Given the description of an element on the screen output the (x, y) to click on. 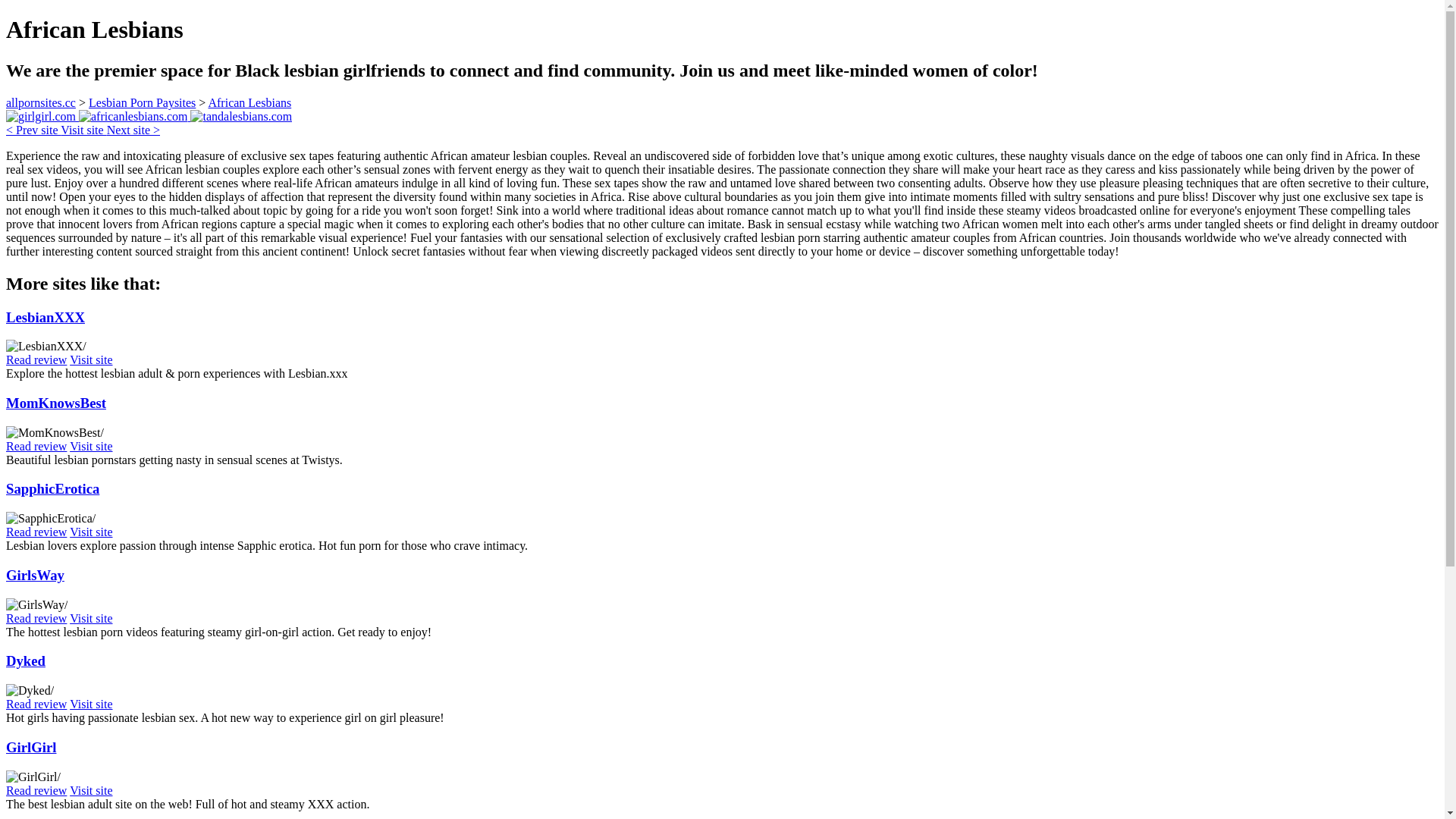
Visit site (90, 531)
African Lesbians (249, 102)
Read review (35, 359)
Visit site (90, 359)
Visit site (90, 789)
LesbianXXX (44, 317)
SapphicErotica (52, 488)
Read review (35, 703)
MomKnowsBest (55, 402)
Visit site (90, 703)
